Given the description of an element on the screen output the (x, y) to click on. 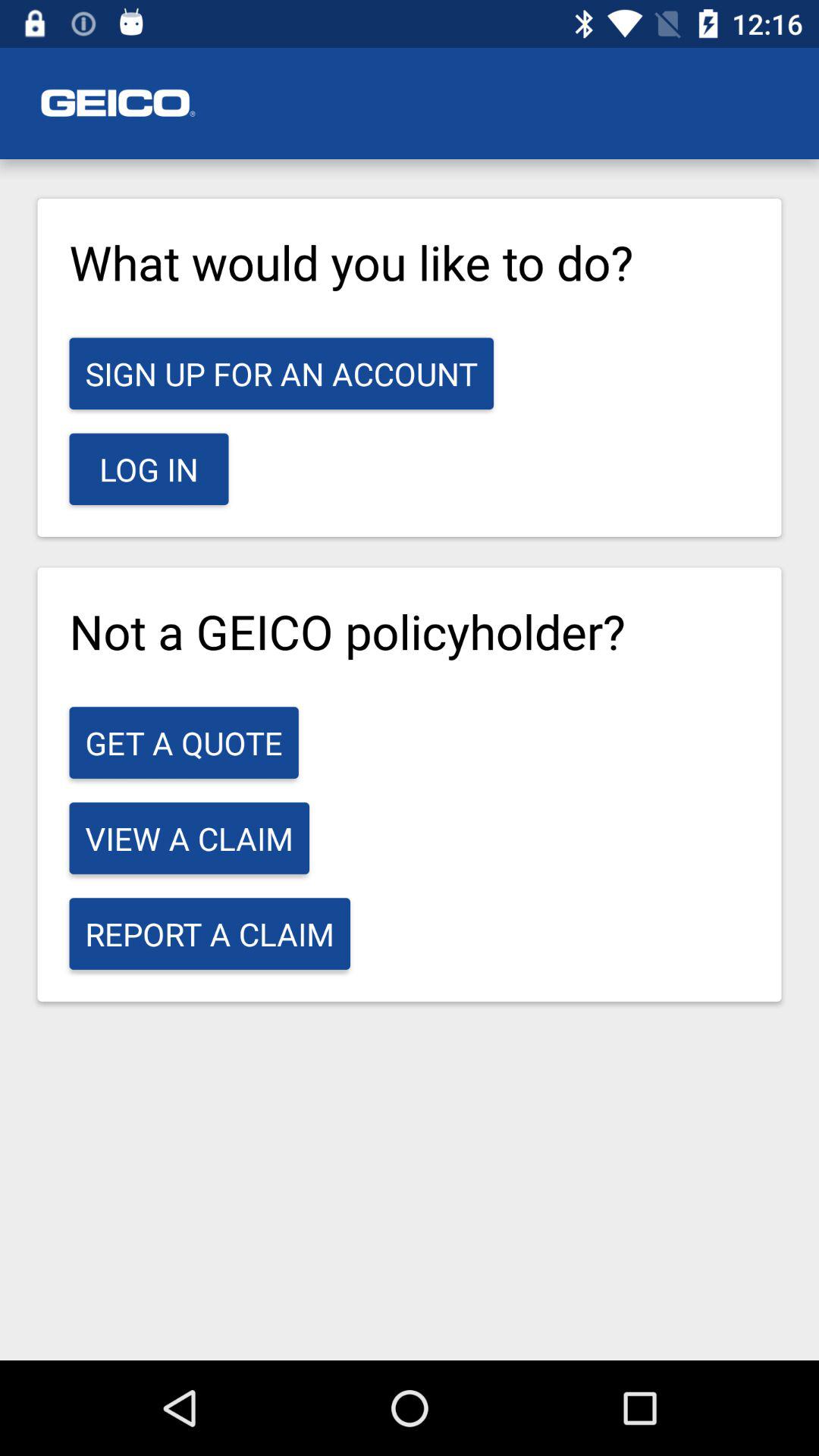
press icon above not a geico icon (148, 468)
